Given the description of an element on the screen output the (x, y) to click on. 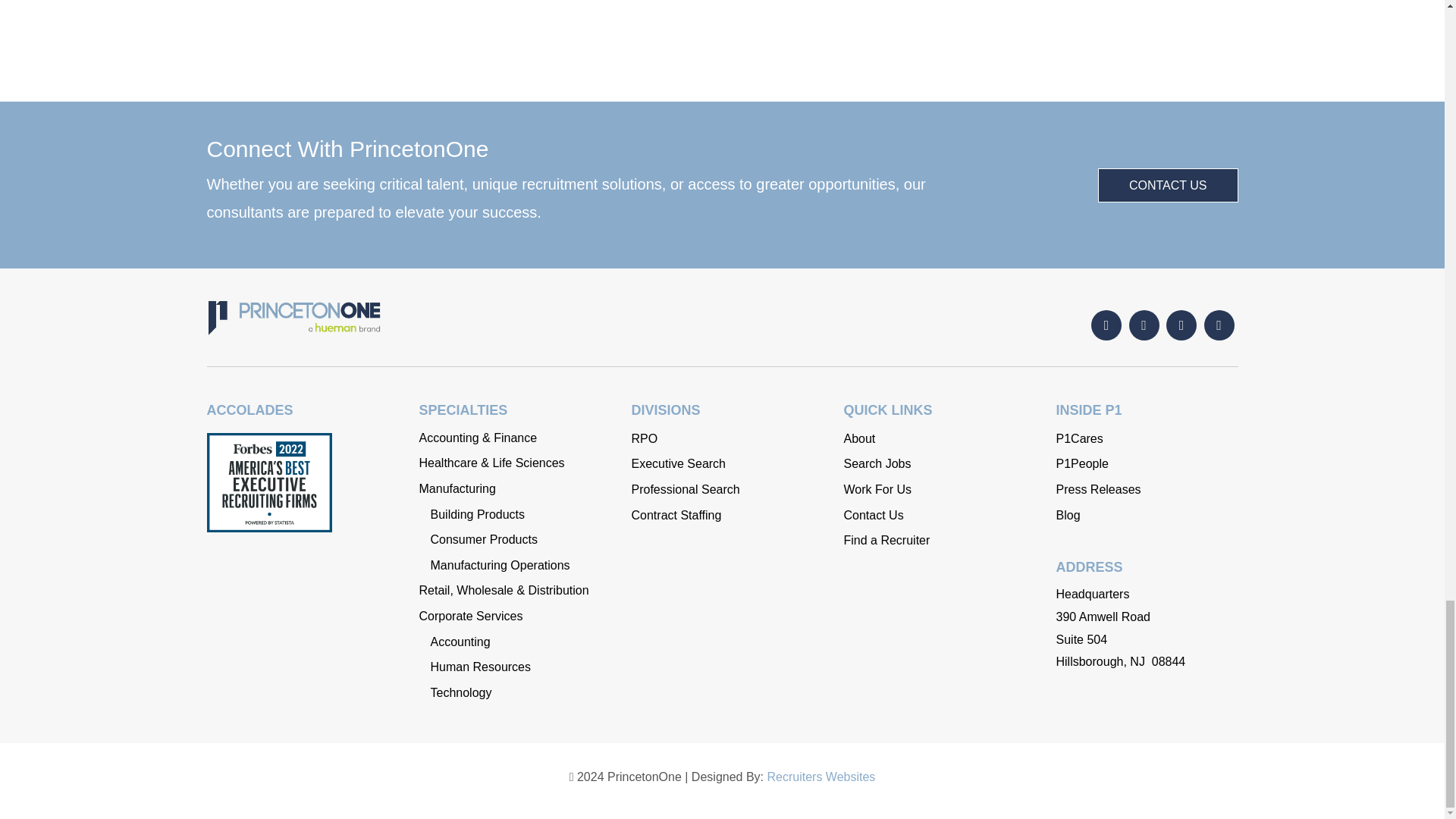
CONTACT US (1168, 185)
